Given the description of an element on the screen output the (x, y) to click on. 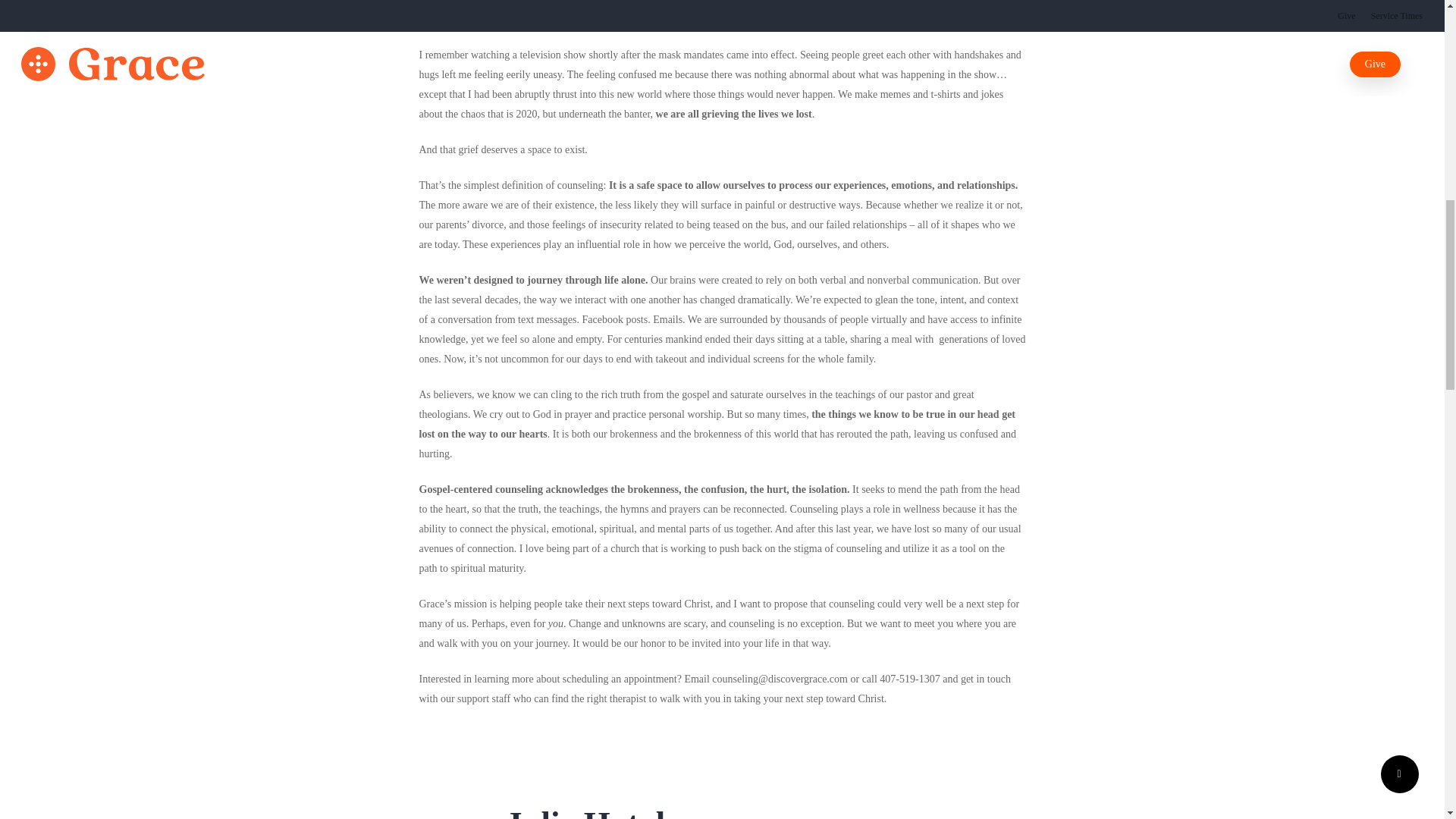
Julie Hotalen (601, 811)
